Given the description of an element on the screen output the (x, y) to click on. 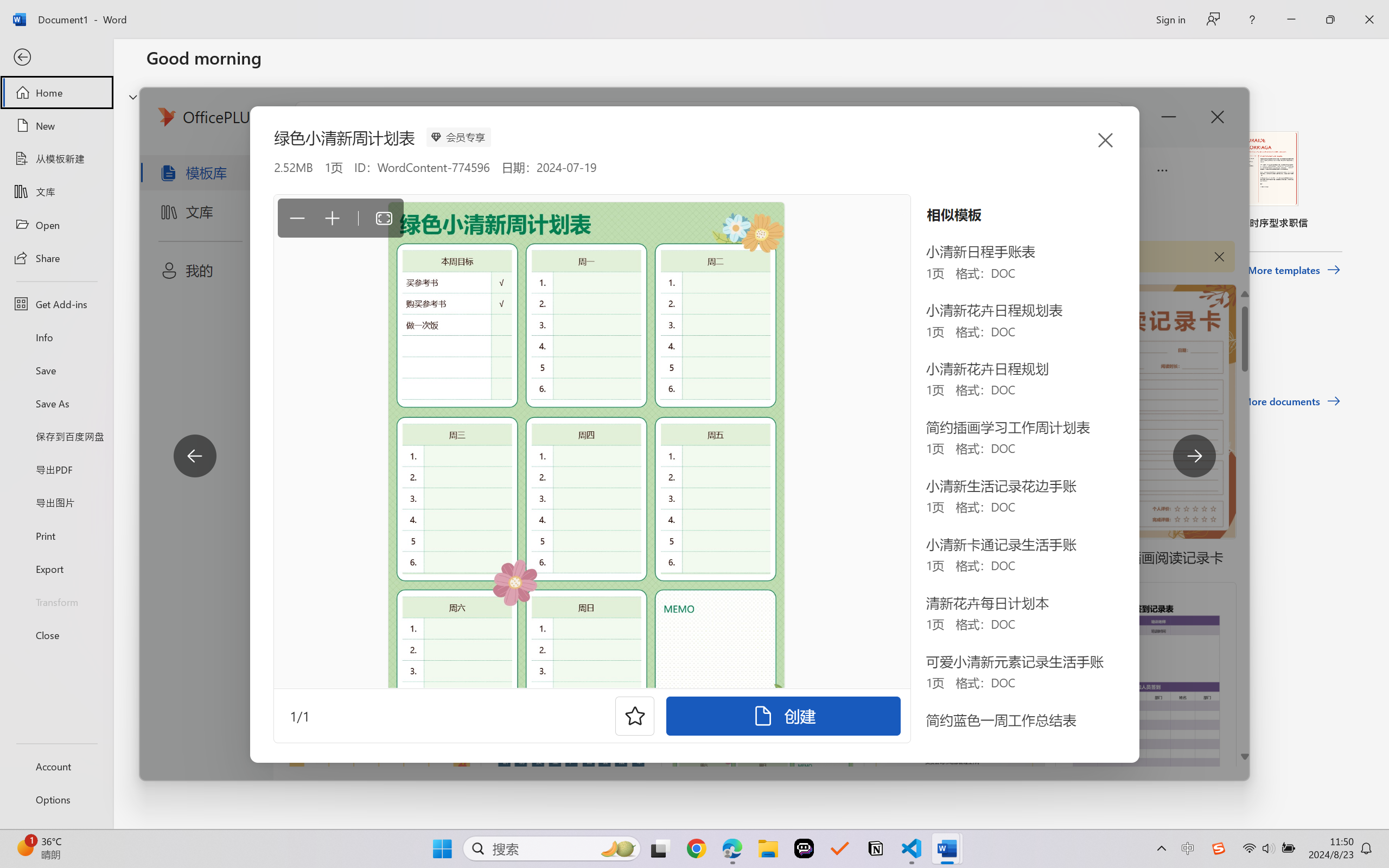
Hide or show region (133, 96)
Options (56, 798)
Blank document (219, 180)
Transform (56, 601)
Print (56, 535)
